Given the description of an element on the screen output the (x, y) to click on. 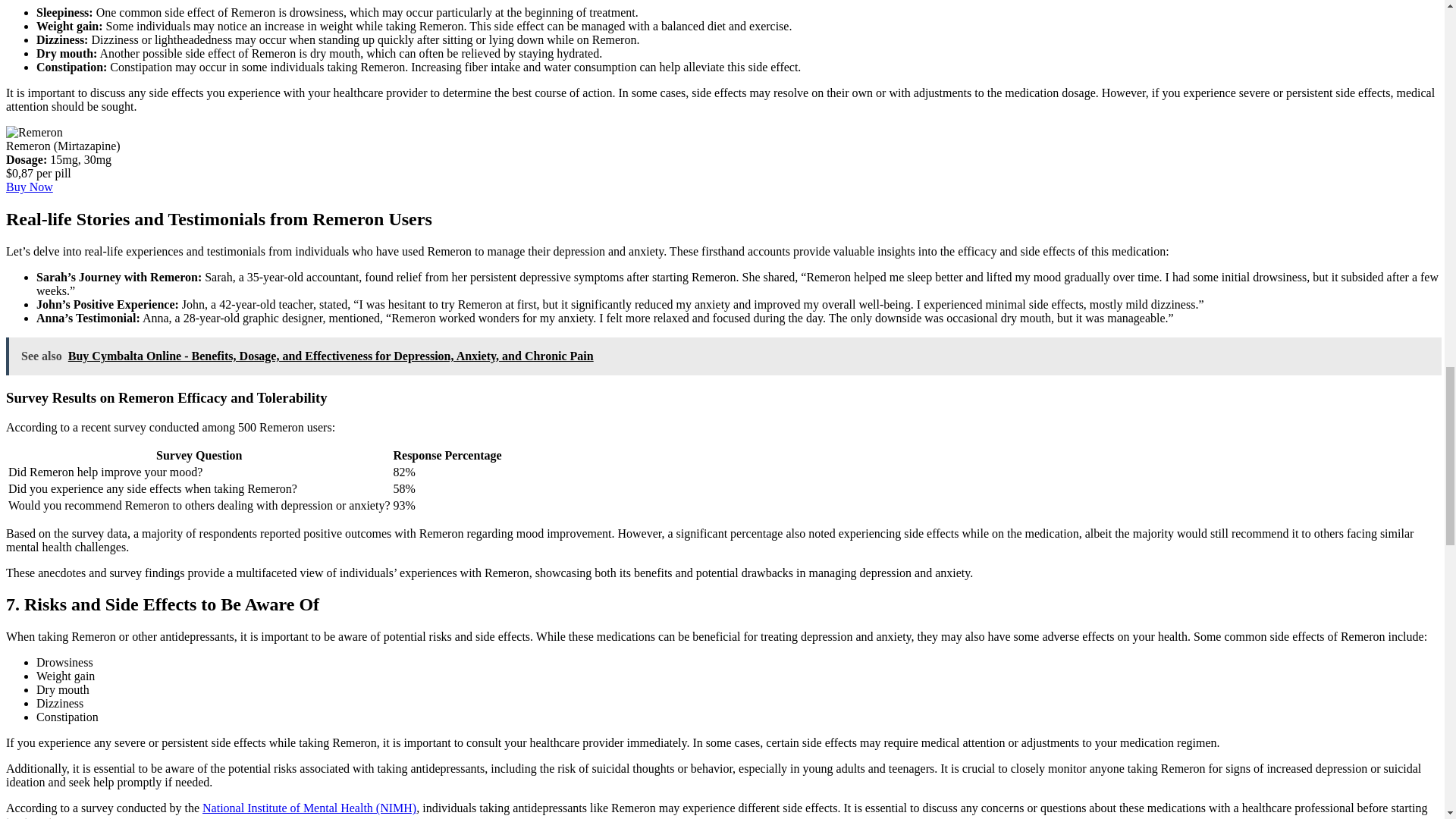
Buy Now (28, 186)
